Given the description of an element on the screen output the (x, y) to click on. 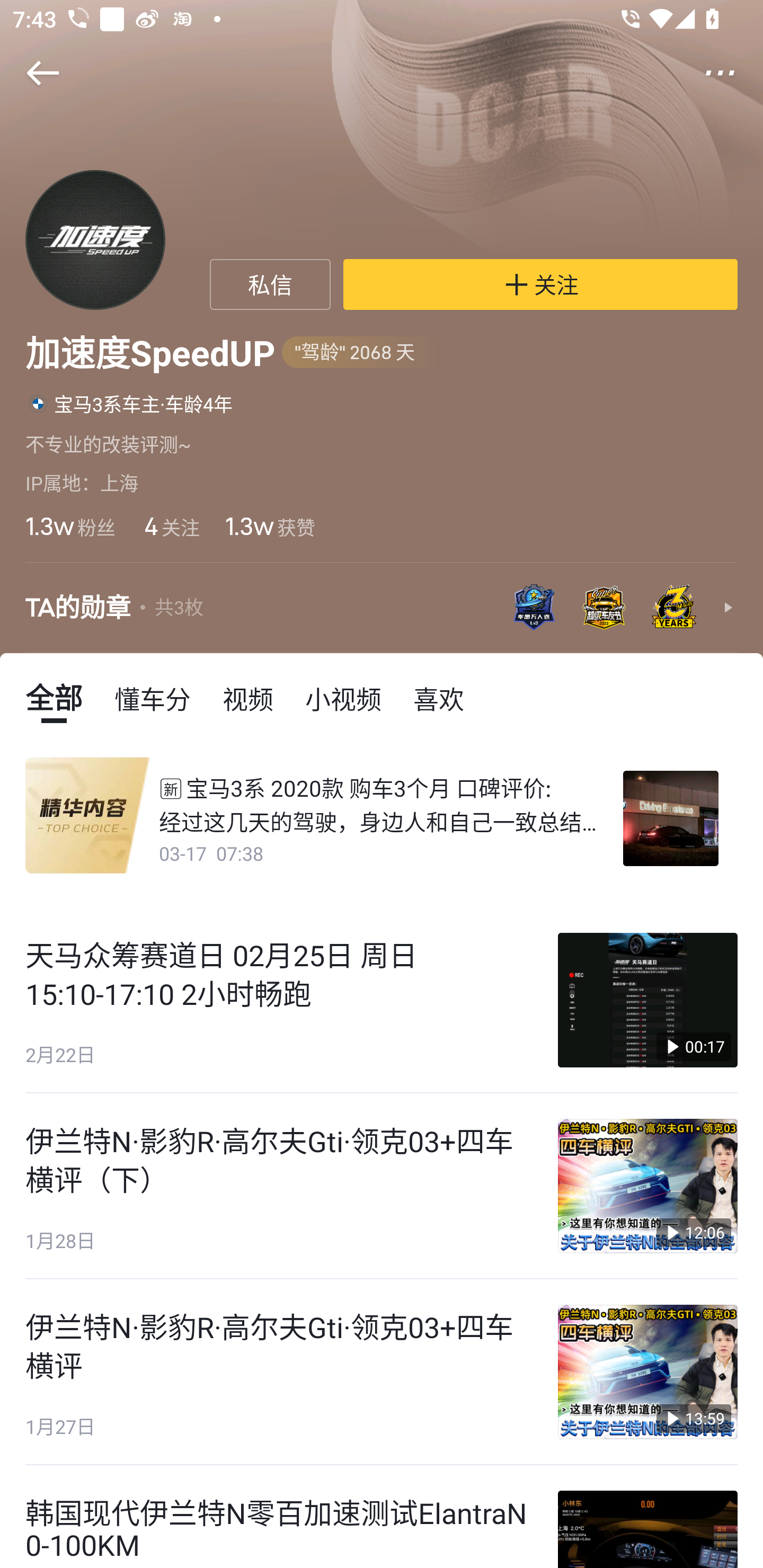
 (30, 72)
 (732, 72)
私信 (269, 284)
 关注 (540, 284)
"驾龄" 2068 天 (363, 352)
1.3w 粉丝 (70, 526)
4 关注 (170, 526)
1.3w 获赞 (270, 526)
TA的勋章 共3枚  (381, 607)
全部 (53, 697)
懂车分 (152, 697)
视频 (247, 697)
小视频 (343, 697)
喜欢 (438, 697)
天马众筹赛道日 02月25日 周日 15:10-17:10 2小时畅跑 2月22日  00:17 (381, 999)
伊兰特N·影豹R·高尔夫Gti·领克03+四车横评（下） 1月28日  12:06 (381, 1185)
伊兰特N·影豹R·高尔夫Gti·领克03+四车横评 1月27日  13:59 (381, 1371)
韩国现代伊兰特N零百加速测试ElantraN 0-100KM (381, 1516)
